Given the description of an element on the screen output the (x, y) to click on. 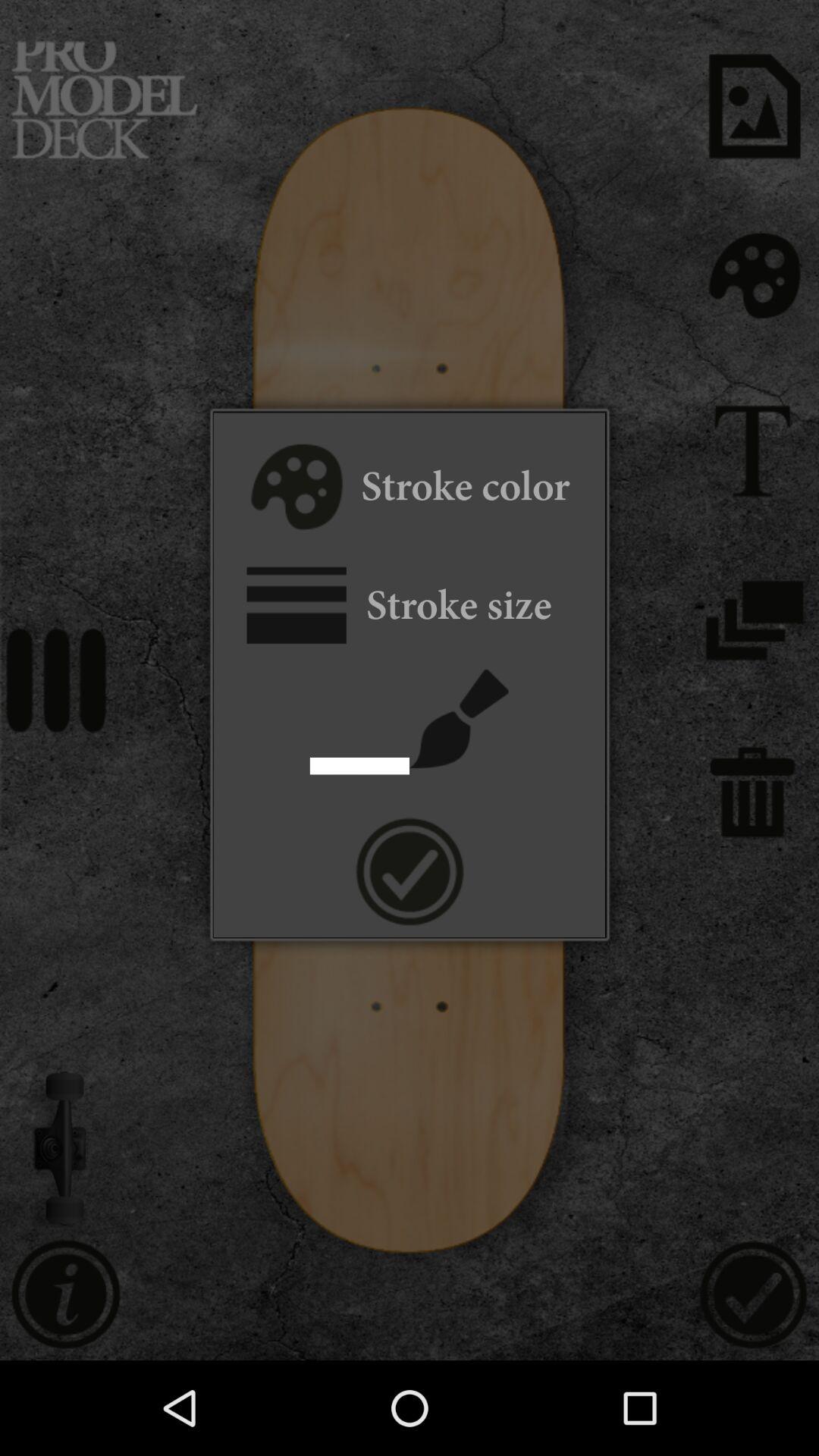
go to color (294, 489)
